Given the description of an element on the screen output the (x, y) to click on. 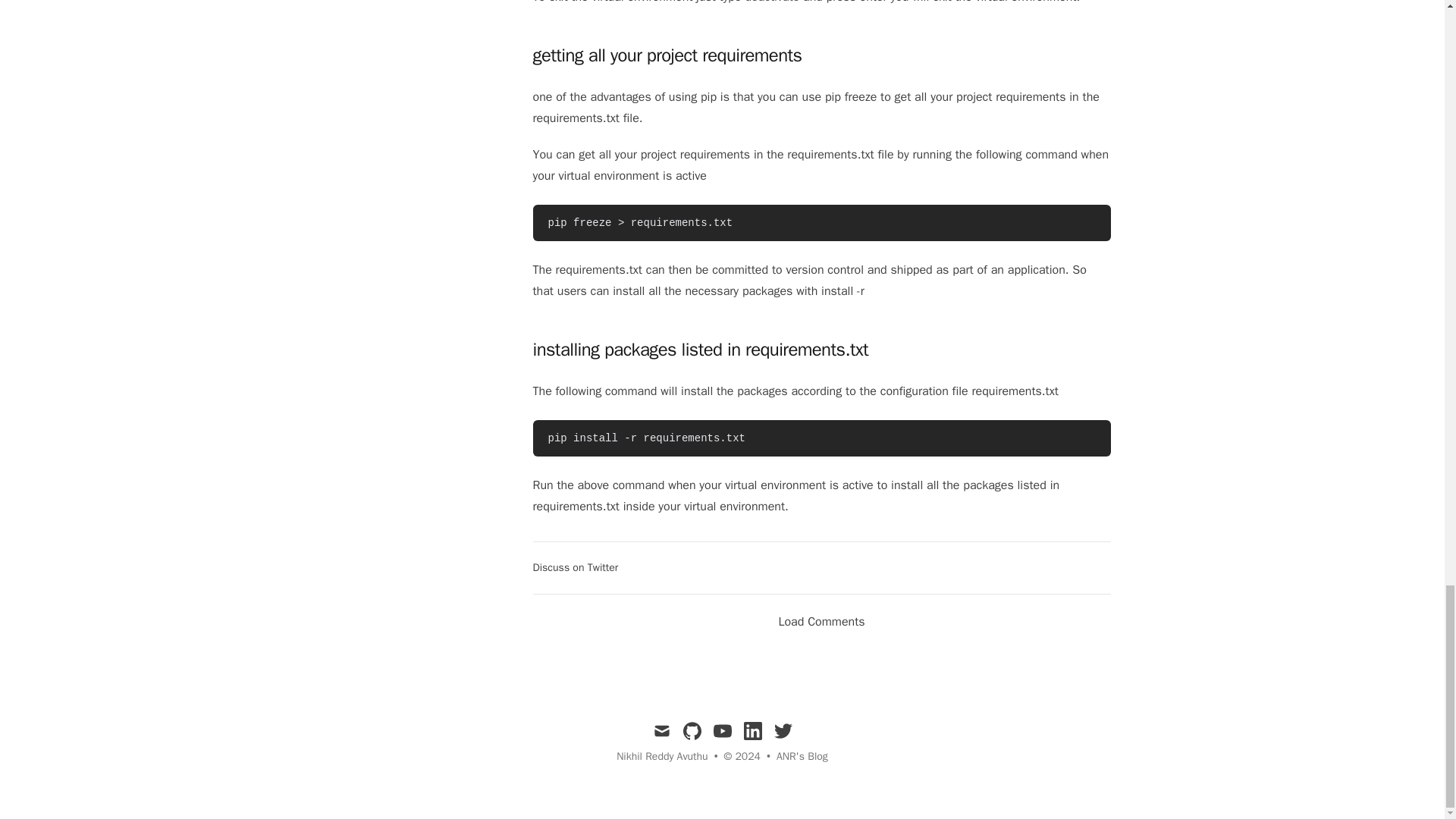
twitter (782, 730)
ANR's Blog (802, 756)
mail (660, 730)
Load Comments (820, 621)
Discuss on Twitter (574, 567)
github (691, 730)
linkedin (751, 730)
youtube (721, 730)
